Given the description of an element on the screen output the (x, y) to click on. 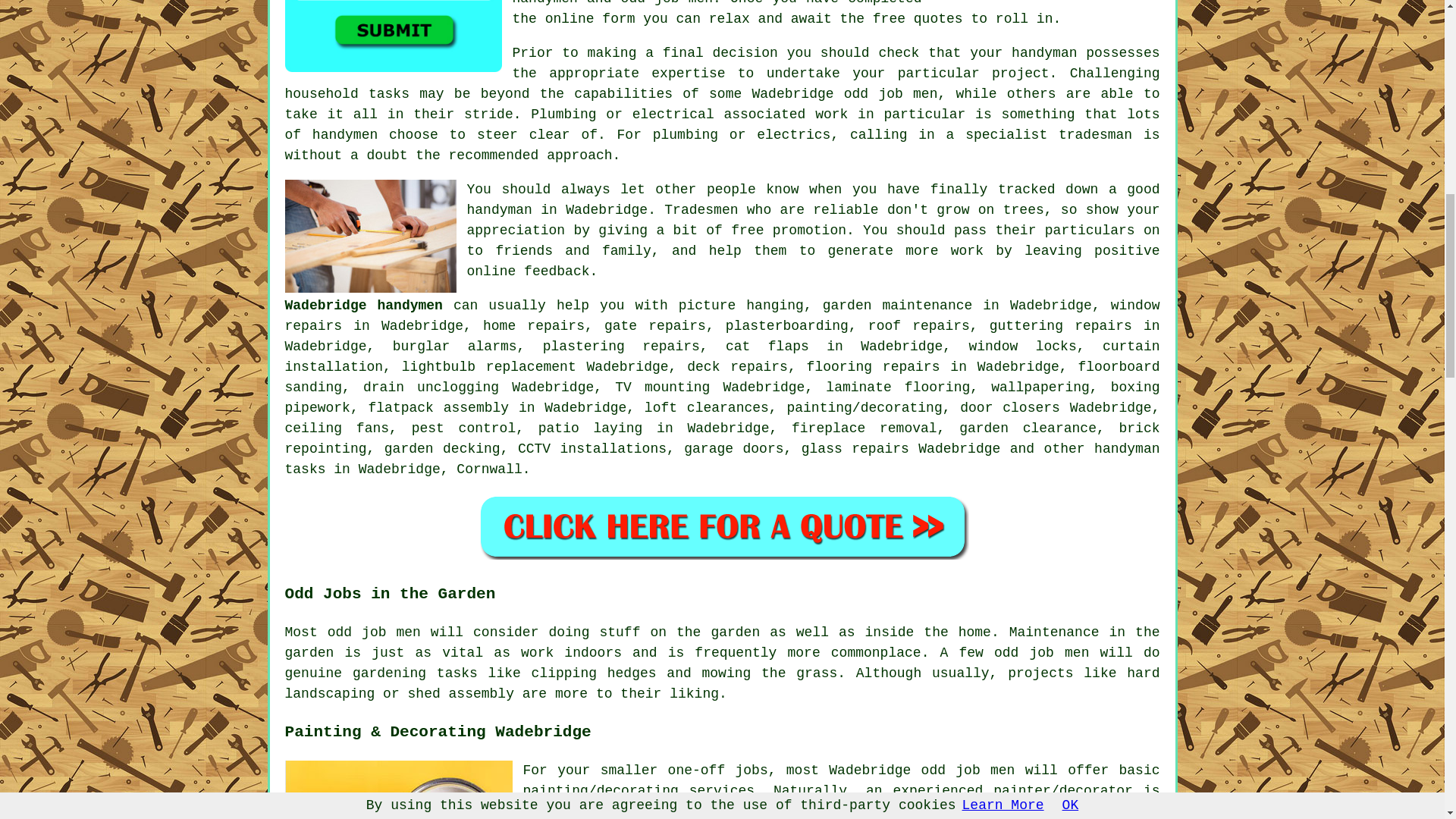
Get Handyman Quotes Wadebridge (393, 36)
Painting and Decorating Wadebridge (398, 789)
